Given the description of an element on the screen output the (x, y) to click on. 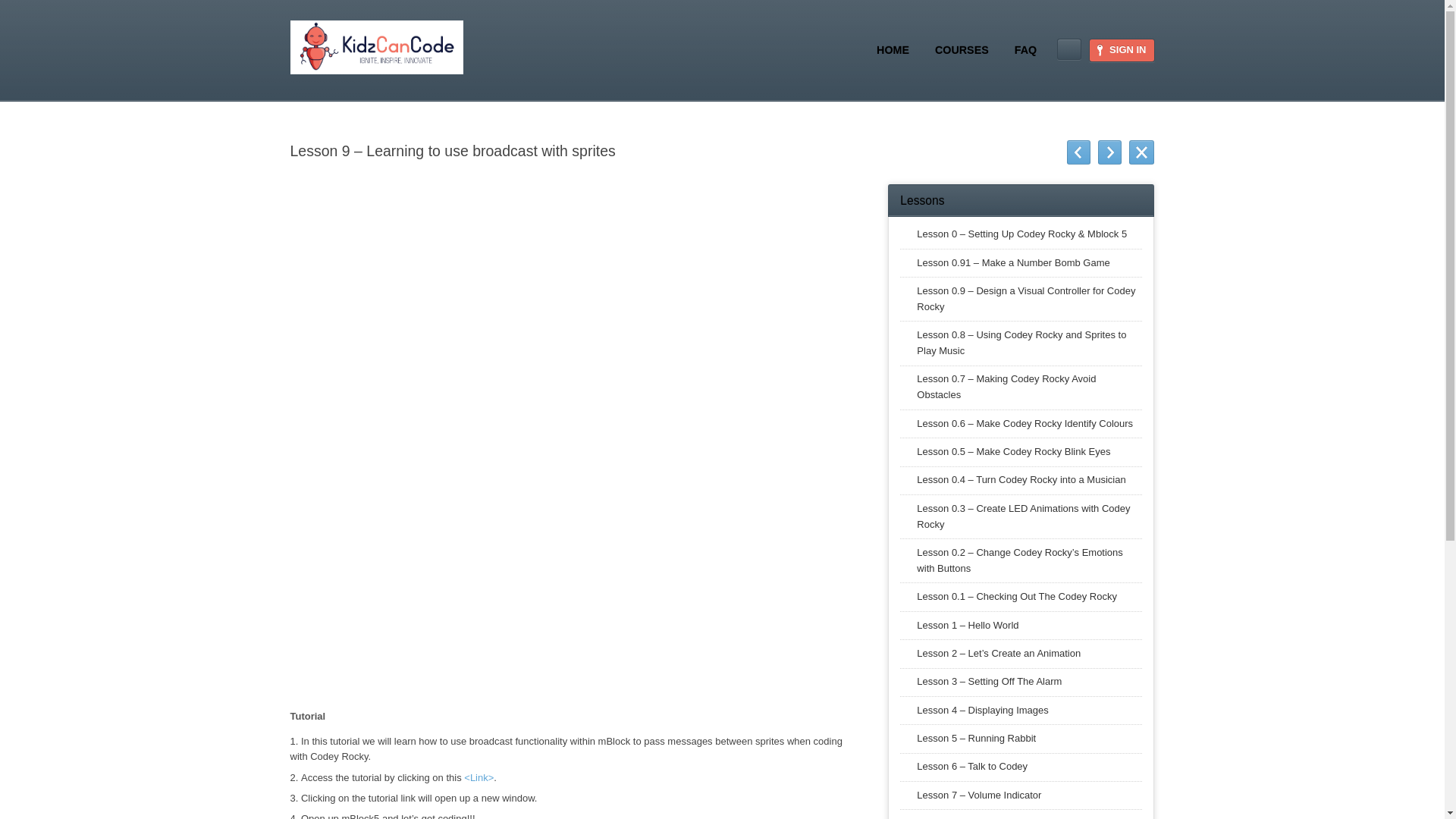
Next Lesson (1109, 152)
COURSES (961, 49)
Previous Lesson (1078, 152)
Close Lesson (1141, 152)
SIGN IN (1121, 50)
HOME (892, 49)
